Given the description of an element on the screen output the (x, y) to click on. 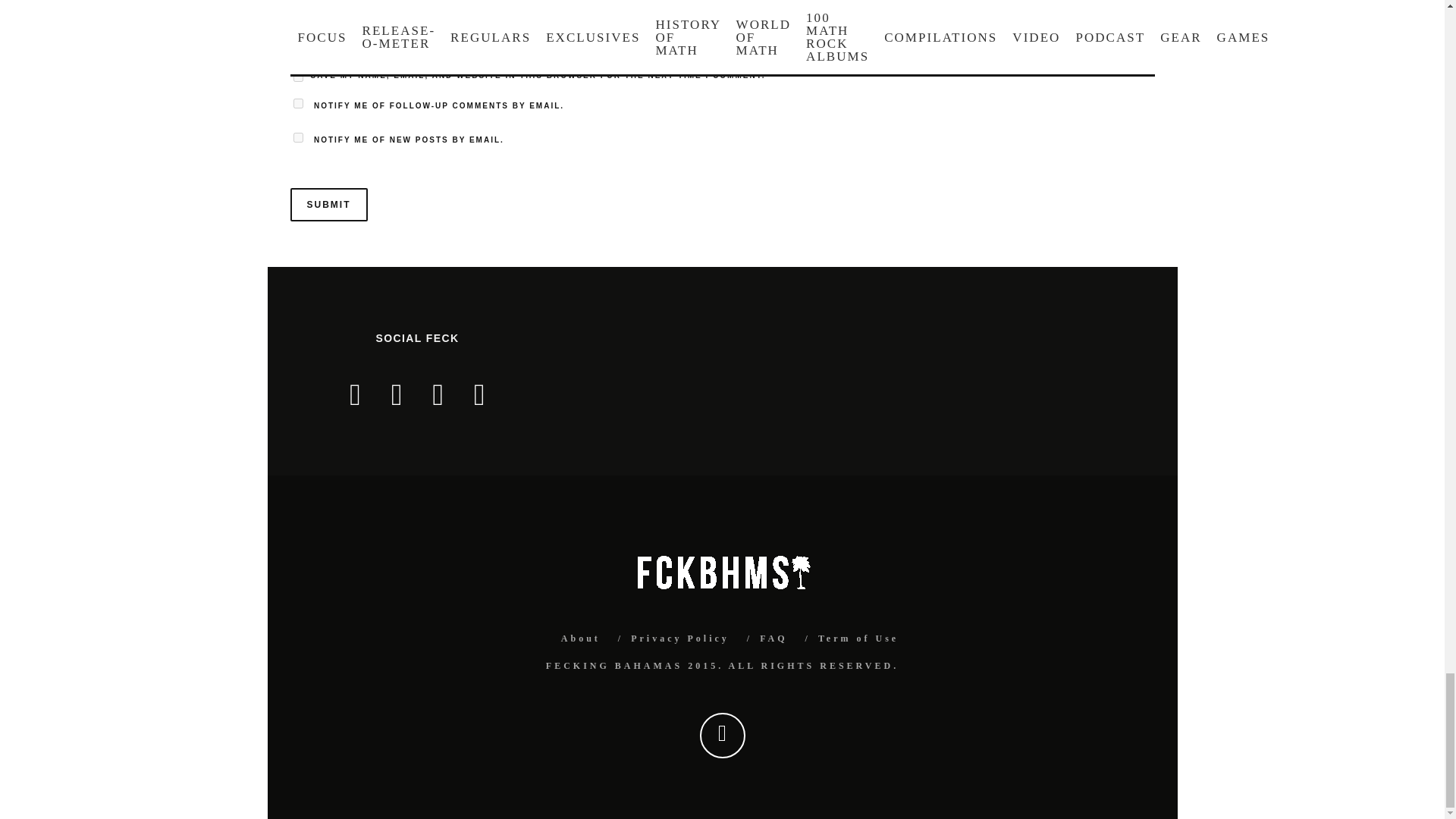
yes (297, 76)
subscribe (297, 137)
Submit (327, 204)
subscribe (297, 103)
